Given the description of an element on the screen output the (x, y) to click on. 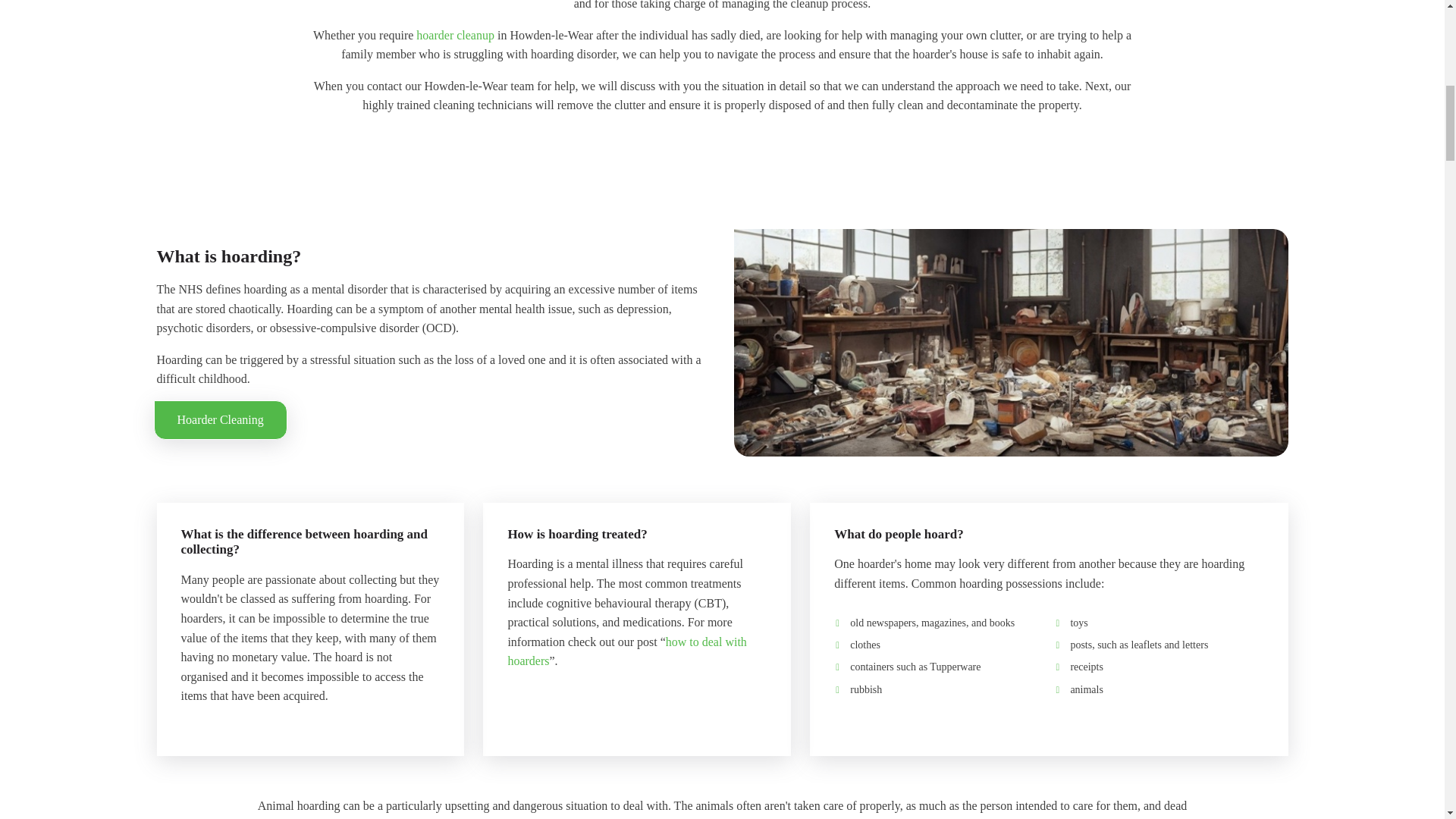
Hoarder Cleaning (219, 419)
how to deal with hoarders (625, 651)
hoarder cleanup (455, 34)
